Given the description of an element on the screen output the (x, y) to click on. 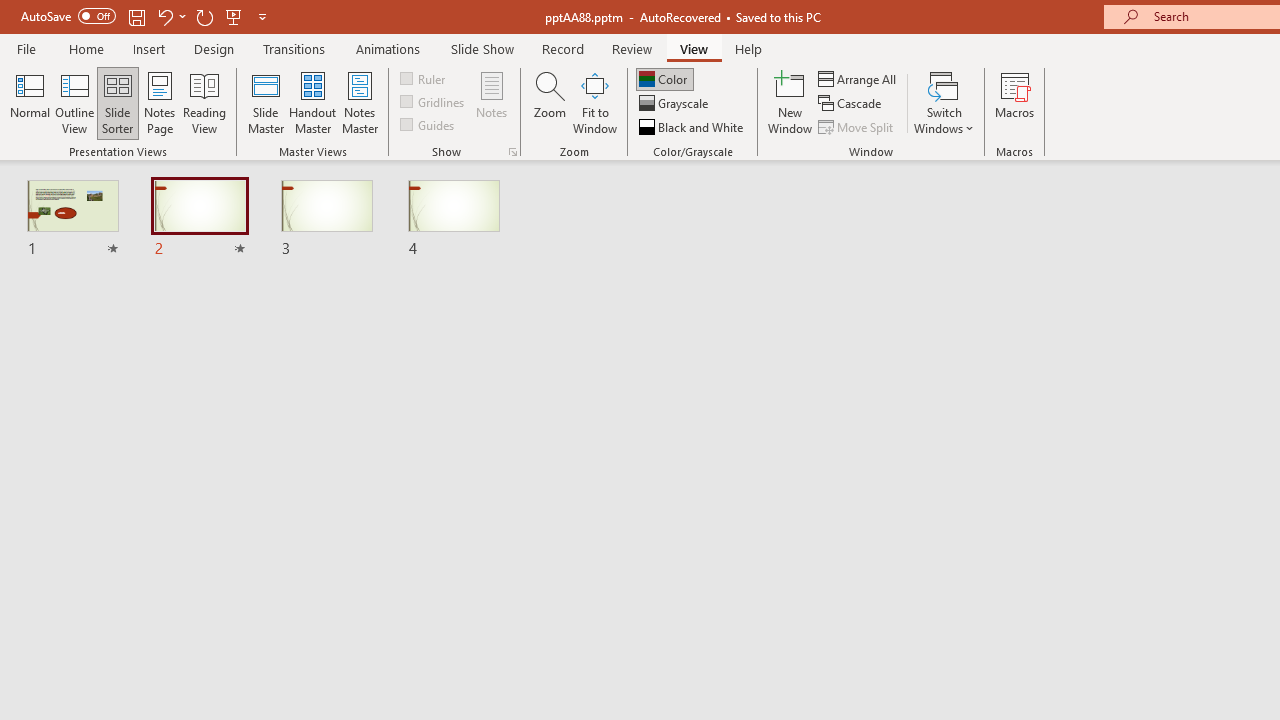
Macros (1014, 102)
Cascade (851, 103)
Notes Page (159, 102)
Arrange All (858, 78)
Slide Master (265, 102)
Color (664, 78)
Handout Master (312, 102)
Notes (492, 102)
